Given the description of an element on the screen output the (x, y) to click on. 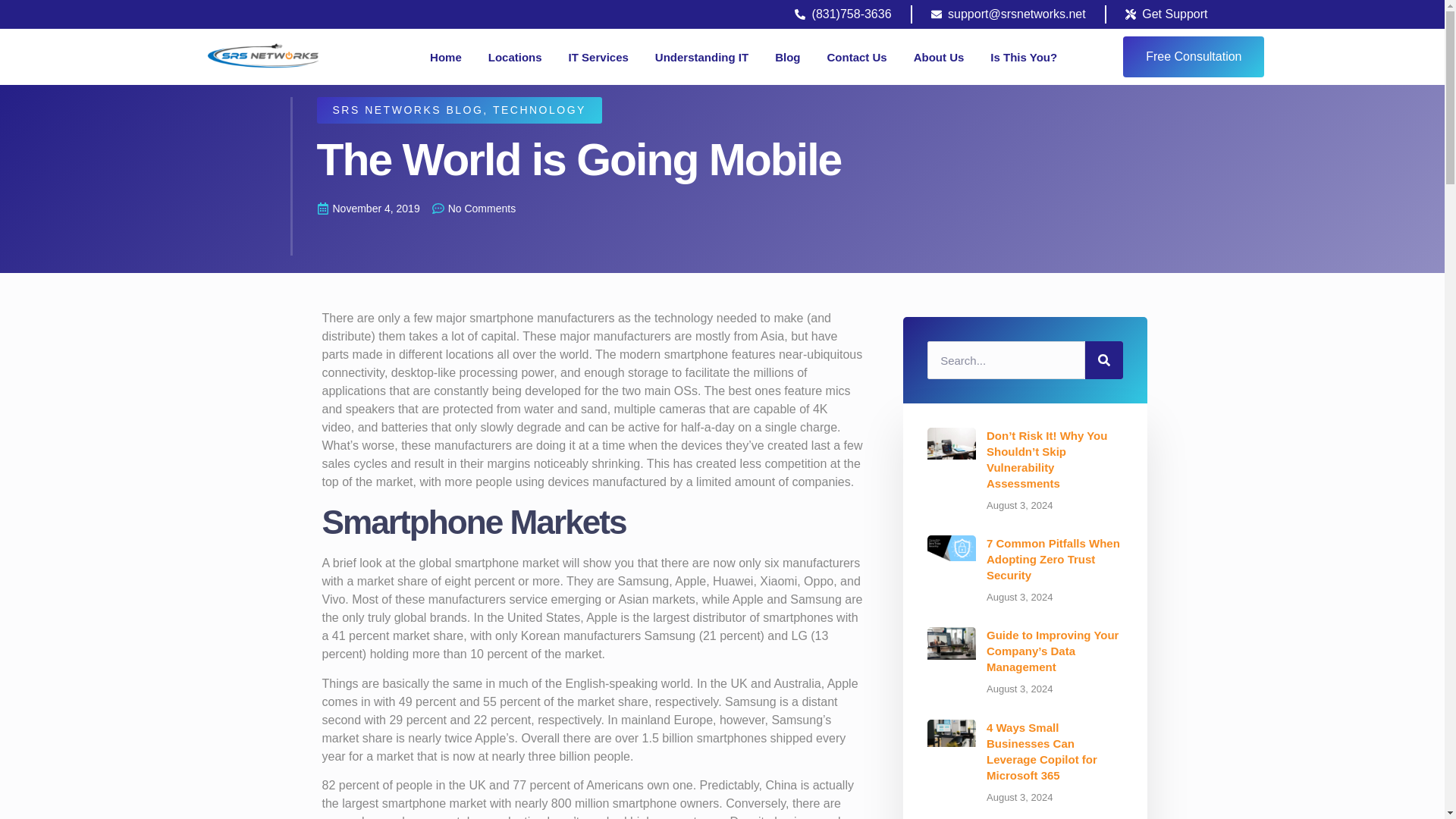
IT Services (598, 56)
logo (263, 57)
Get Support (1166, 13)
Locations (514, 56)
